Given the description of an element on the screen output the (x, y) to click on. 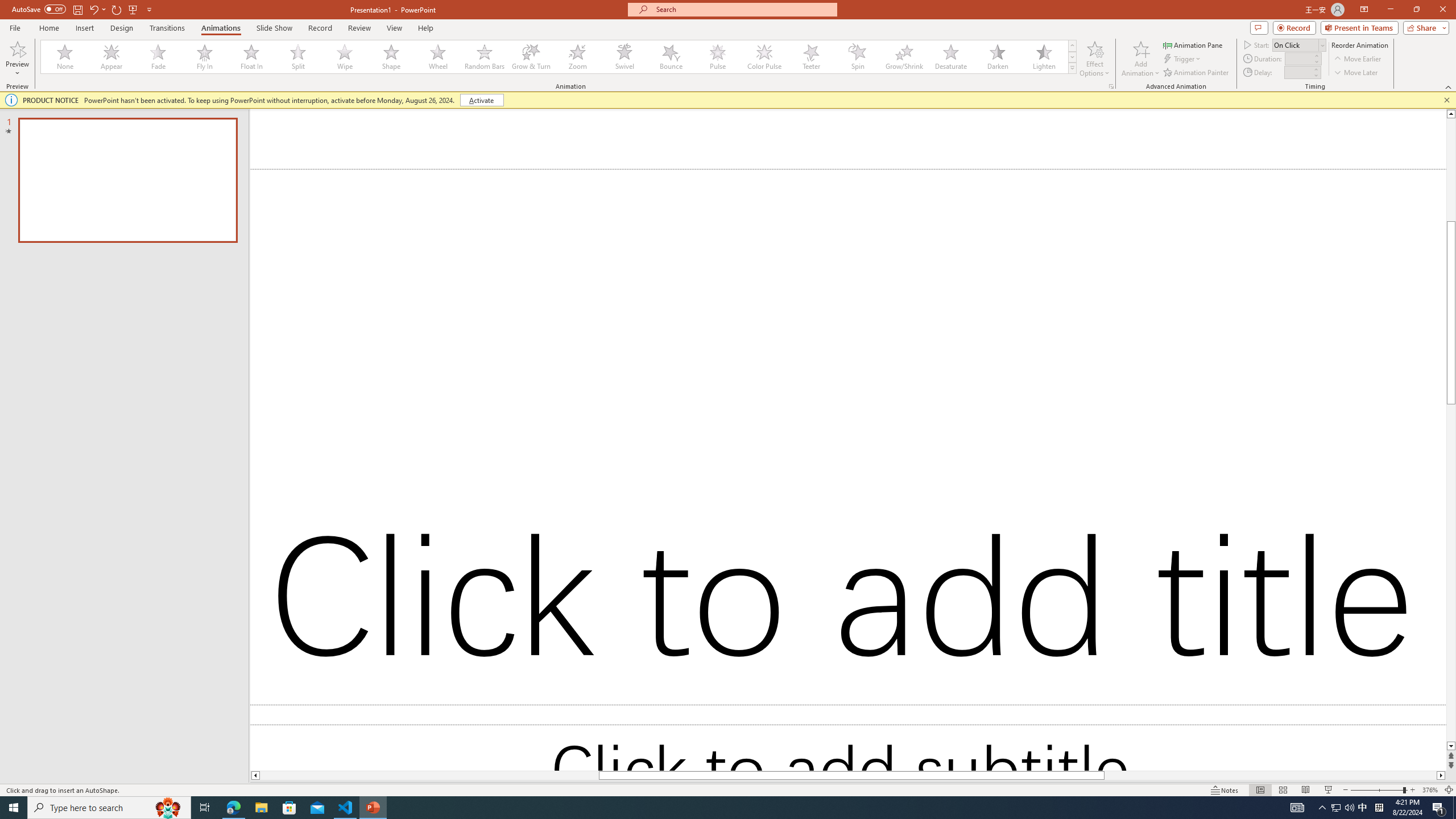
Zoom 376% (1430, 790)
Desaturate (950, 56)
Float In (251, 56)
Fly In (205, 56)
Spin (857, 56)
